Given the description of an element on the screen output the (x, y) to click on. 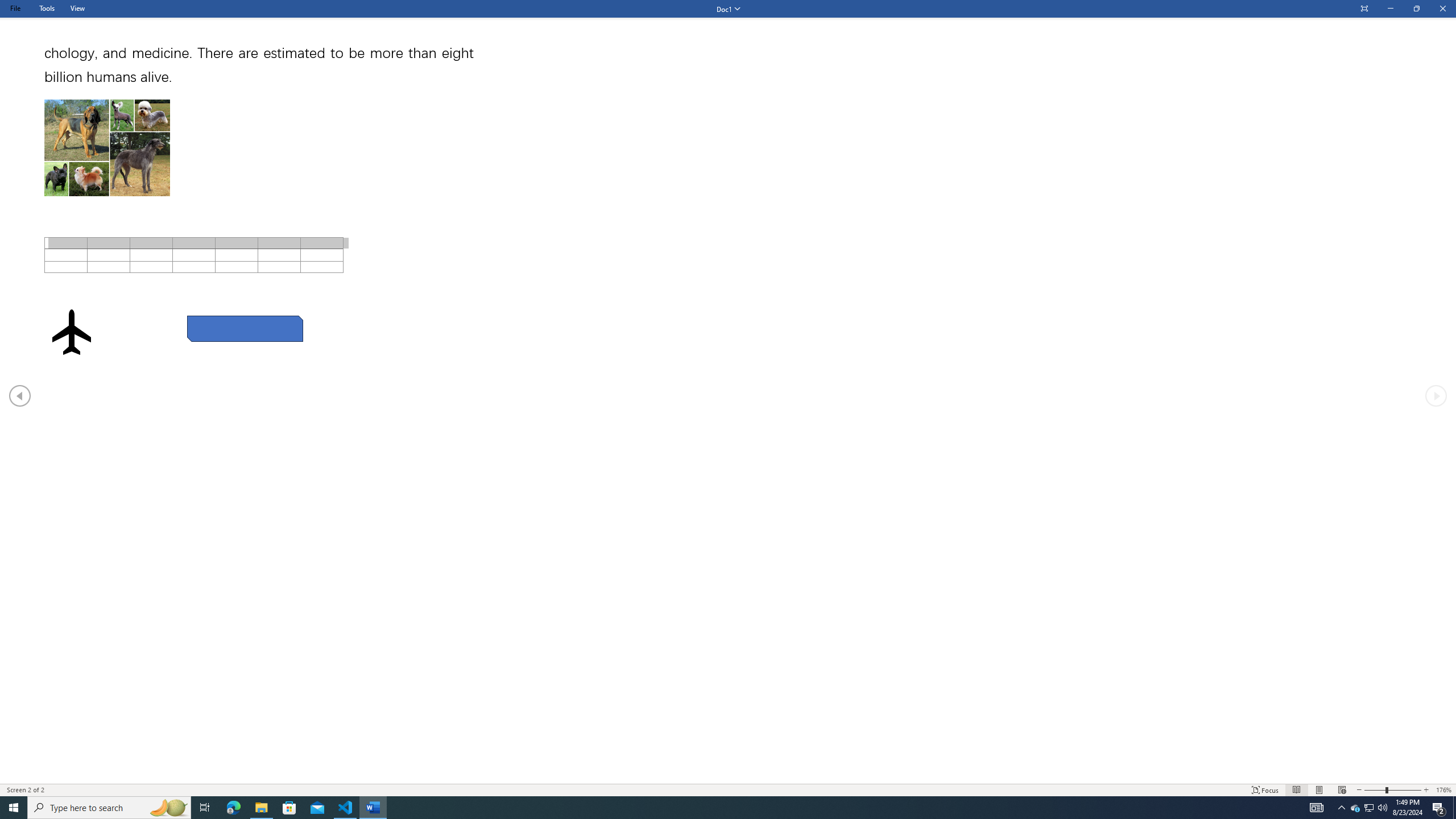
Decrease Text Size (1359, 790)
Minimize (1390, 9)
Close (1442, 9)
Zoom In (1405, 790)
Rectangle: Diagonal Corners Snipped 2 (244, 328)
Text Size (1392, 790)
Class: NetUIScrollBar (728, 778)
Auto-hide Reading Toolbar (1364, 9)
Page Number Screen 2 of 2  (29, 790)
Print Layout (1318, 790)
Restore Down (1416, 9)
Zoom Out (1375, 790)
Morphological variation in six dogs (106, 147)
